Given the description of an element on the screen output the (x, y) to click on. 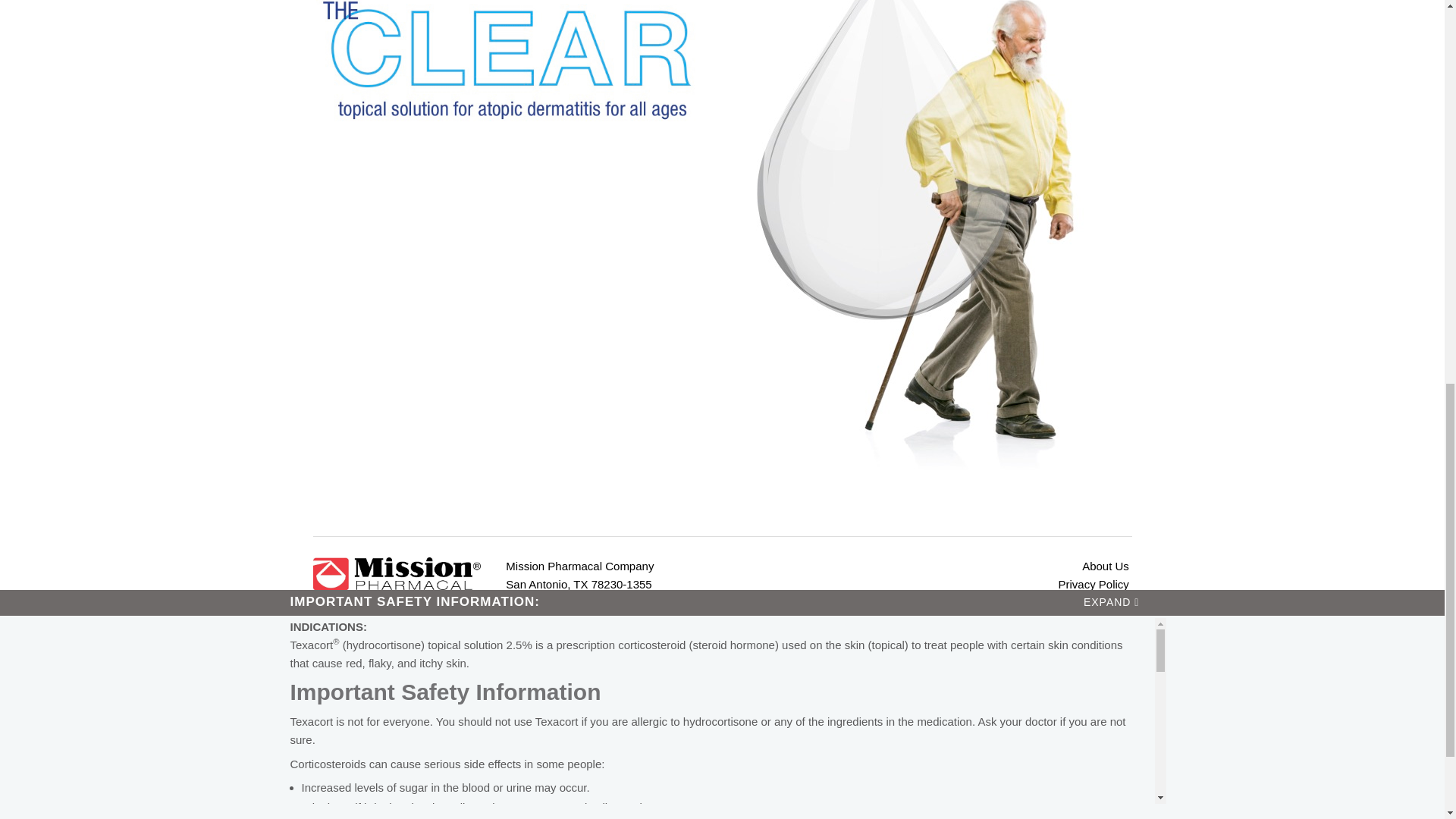
Please click here for full Prescribing Information. (421, 494)
About Us (965, 566)
Terms of Use (965, 602)
Contact Us (965, 638)
Report Adverse Events (965, 620)
Privacy Policy (965, 584)
